Given the description of an element on the screen output the (x, y) to click on. 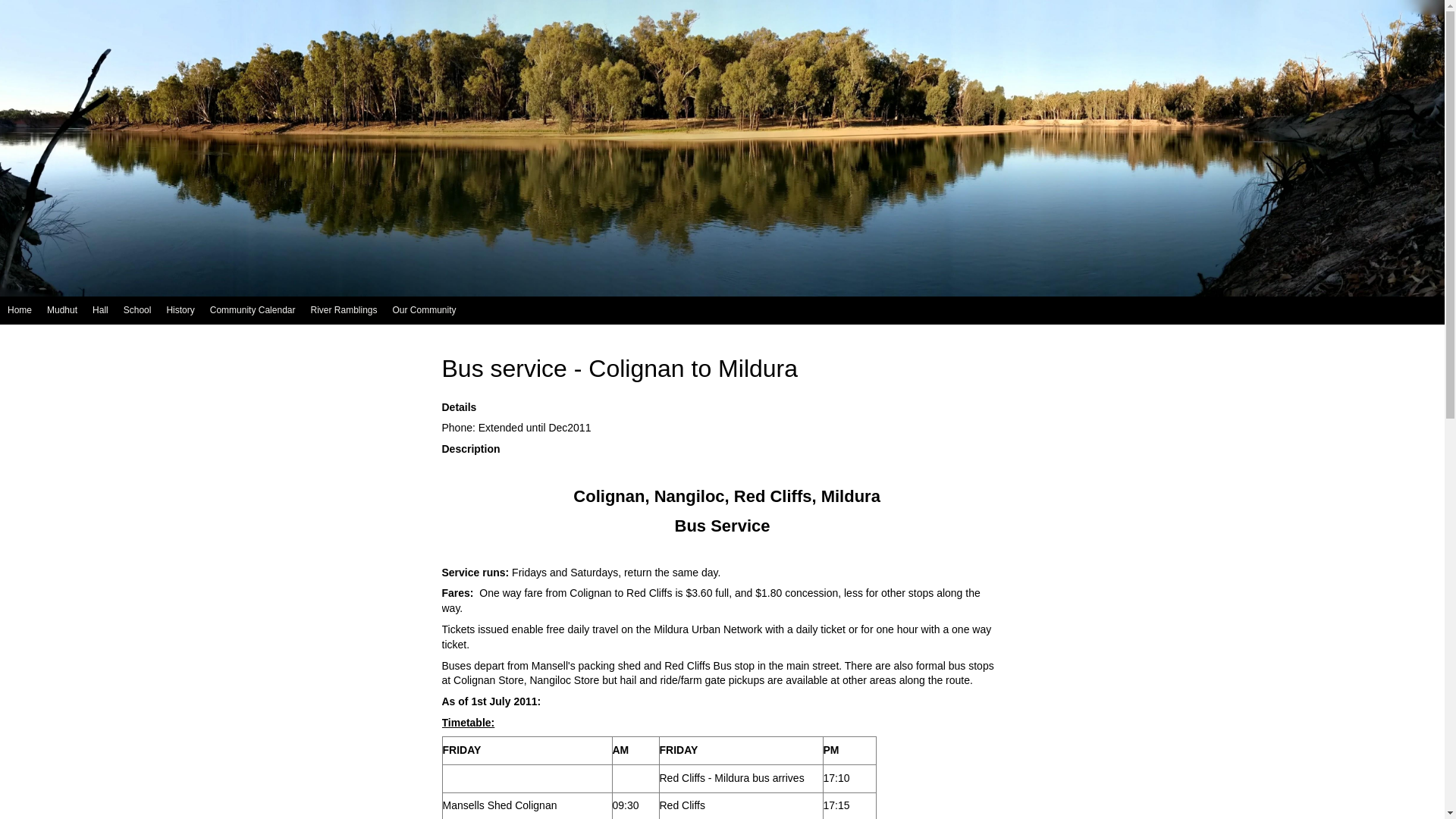
River Ramblings Element type: text (343, 310)
School Element type: text (137, 310)
Mudhut Element type: text (61, 310)
History Element type: text (179, 310)
Home Element type: text (19, 310)
Our Community Element type: text (424, 310)
Hall Element type: text (100, 310)
Community Calendar Element type: text (252, 310)
